Given the description of an element on the screen output the (x, y) to click on. 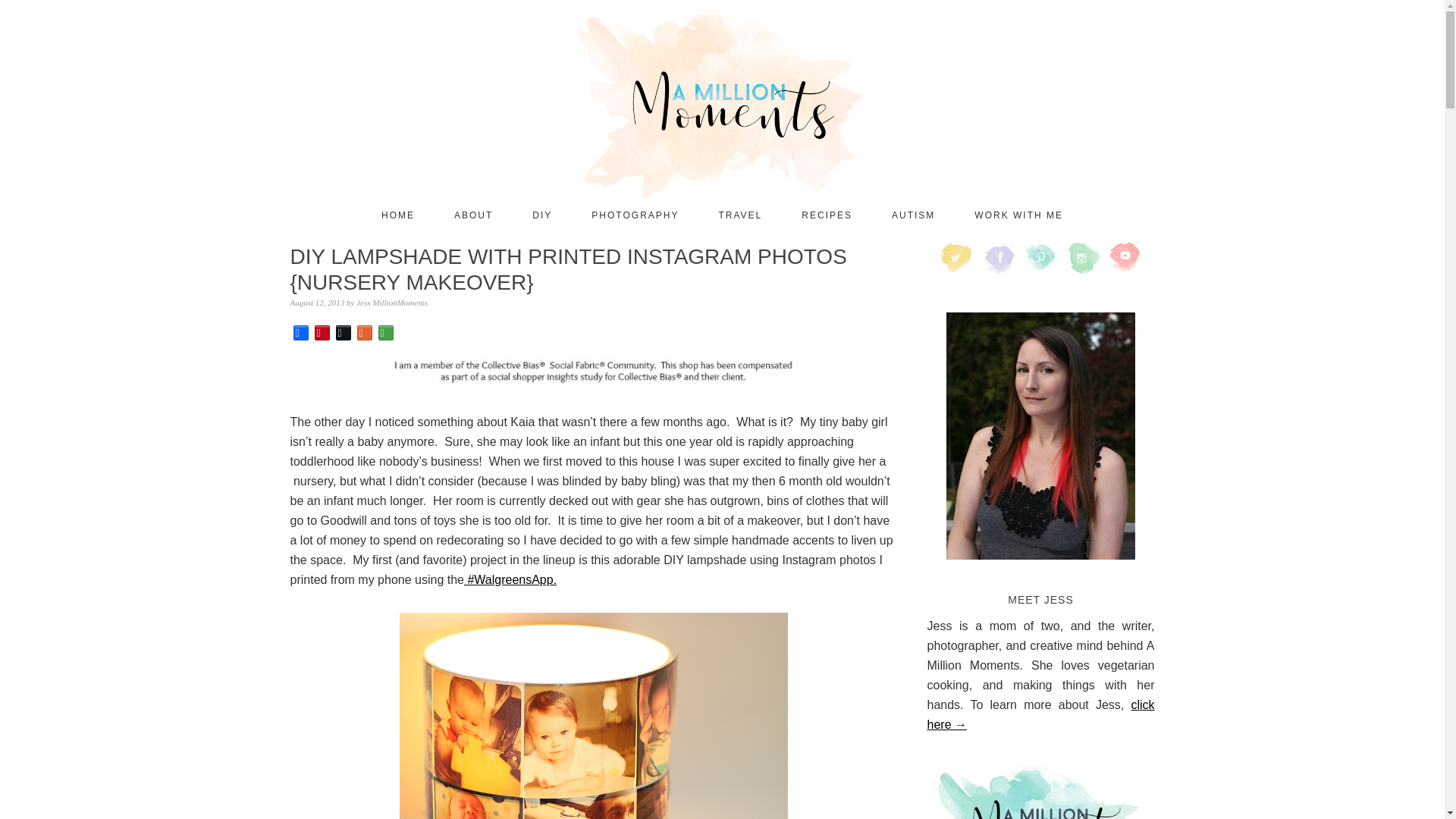
Pinterest (321, 332)
WORK WITH ME (1018, 215)
ABOUT (473, 215)
Facebook (300, 332)
Jess MillionMoments (392, 302)
DIY (541, 215)
TRAVEL (739, 215)
PHOTOGRAPHY (634, 215)
HOME (397, 215)
Yummly (363, 332)
AUTISM (912, 215)
More Options (385, 332)
RECIPES (826, 215)
